Given the description of an element on the screen output the (x, y) to click on. 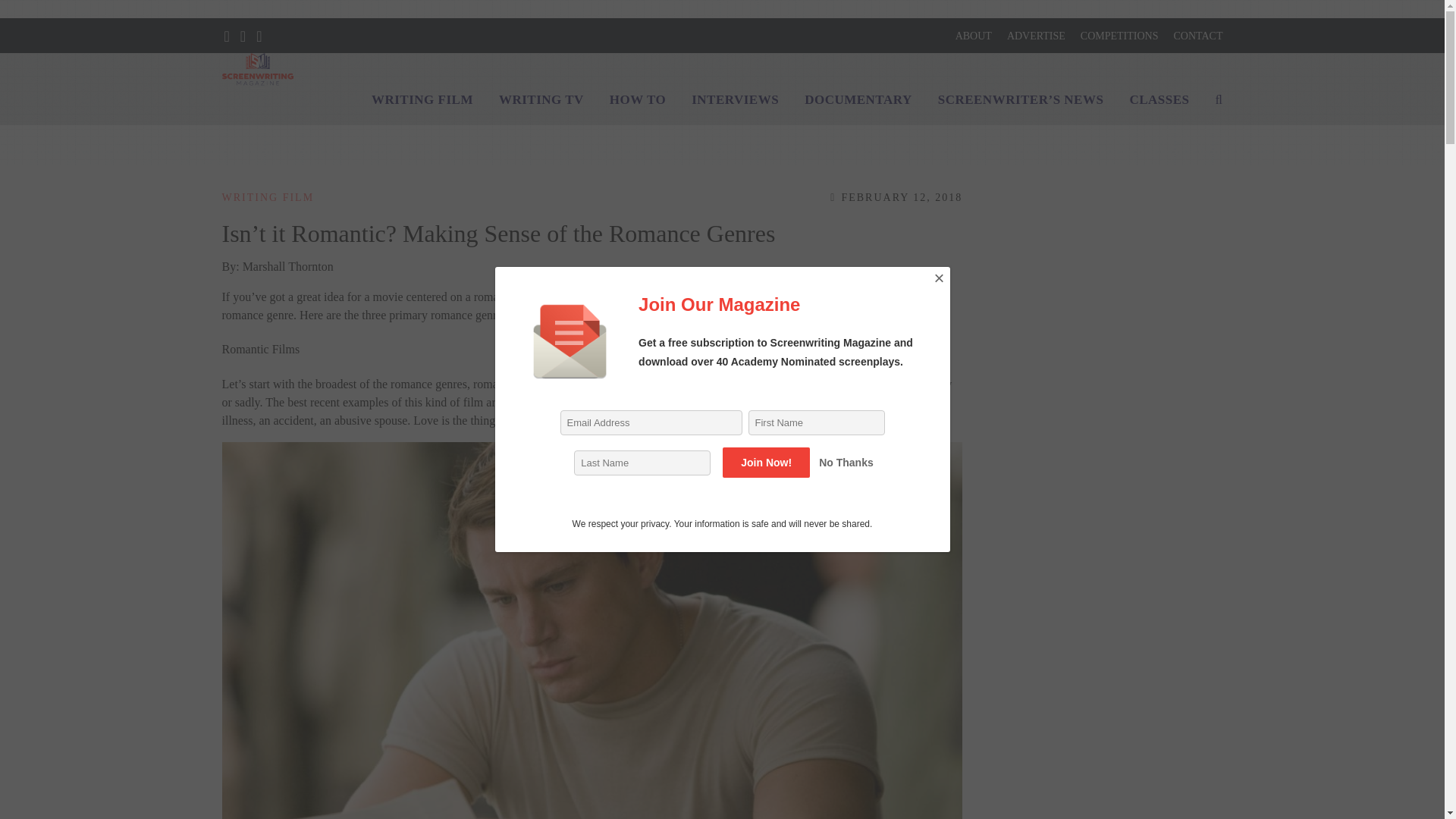
ABOUT (973, 35)
FEBRUARY 12, 2018 (895, 197)
COMPETITIONS (1119, 35)
Advertisement (1113, 762)
WRITING FILM (267, 197)
WRITING TV (541, 99)
Posts by Marshall Thornton (288, 266)
WRITING FILM (422, 99)
HOW TO (637, 99)
ADVERTISE (1036, 35)
Marshall Thornton (288, 266)
CONTACT (1198, 35)
INTERVIEWS (735, 99)
DOCUMENTARY (858, 99)
CLASSES (1159, 99)
